Given the description of an element on the screen output the (x, y) to click on. 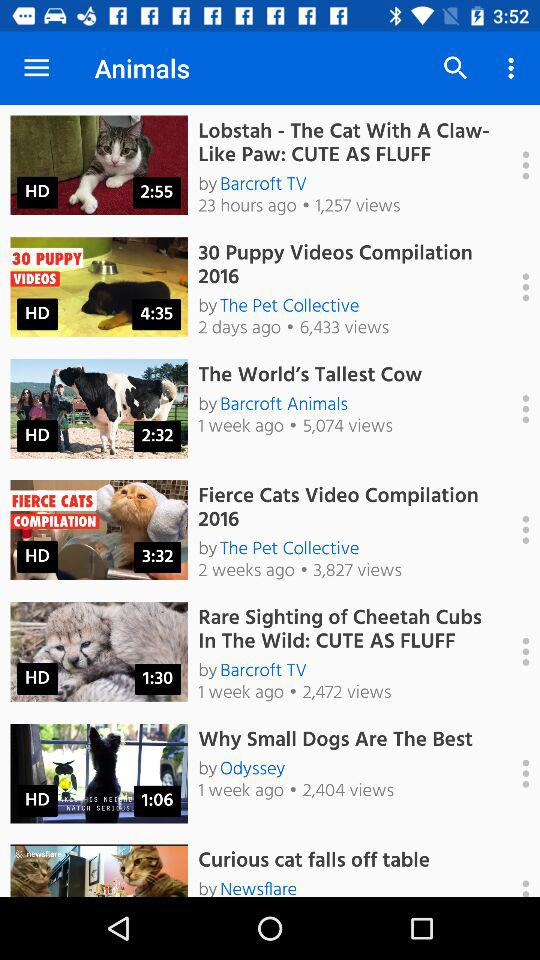
page actions (515, 165)
